Given the description of an element on the screen output the (x, y) to click on. 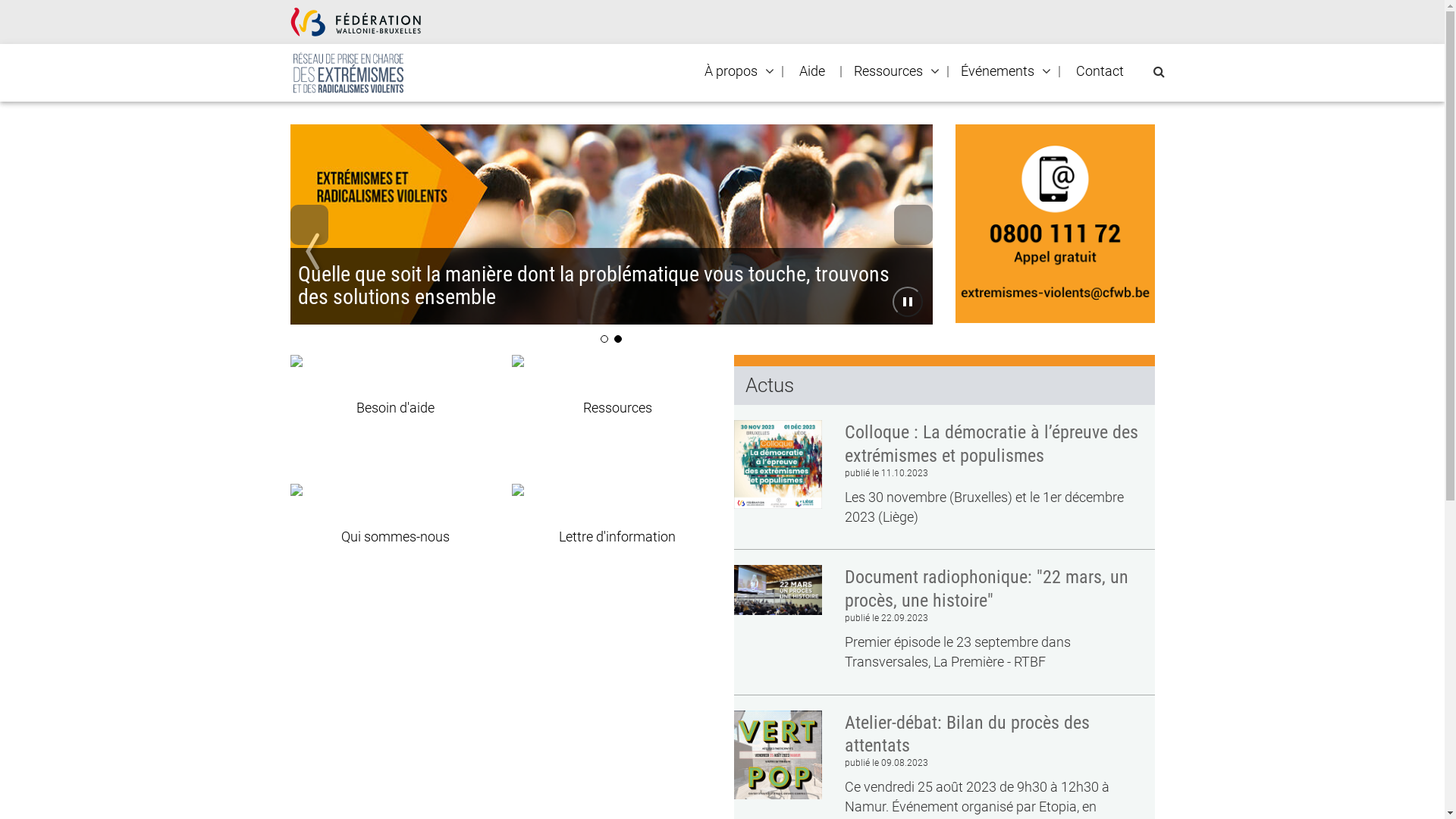
Rechercher sur le site Element type: text (1158, 71)
Contact Element type: text (1099, 71)
Recherche Element type: text (5, 11)
Ressources Element type: text (887, 71)
Suivant Element type: text (913, 224)
Aide Element type: text (811, 71)
